Given the description of an element on the screen output the (x, y) to click on. 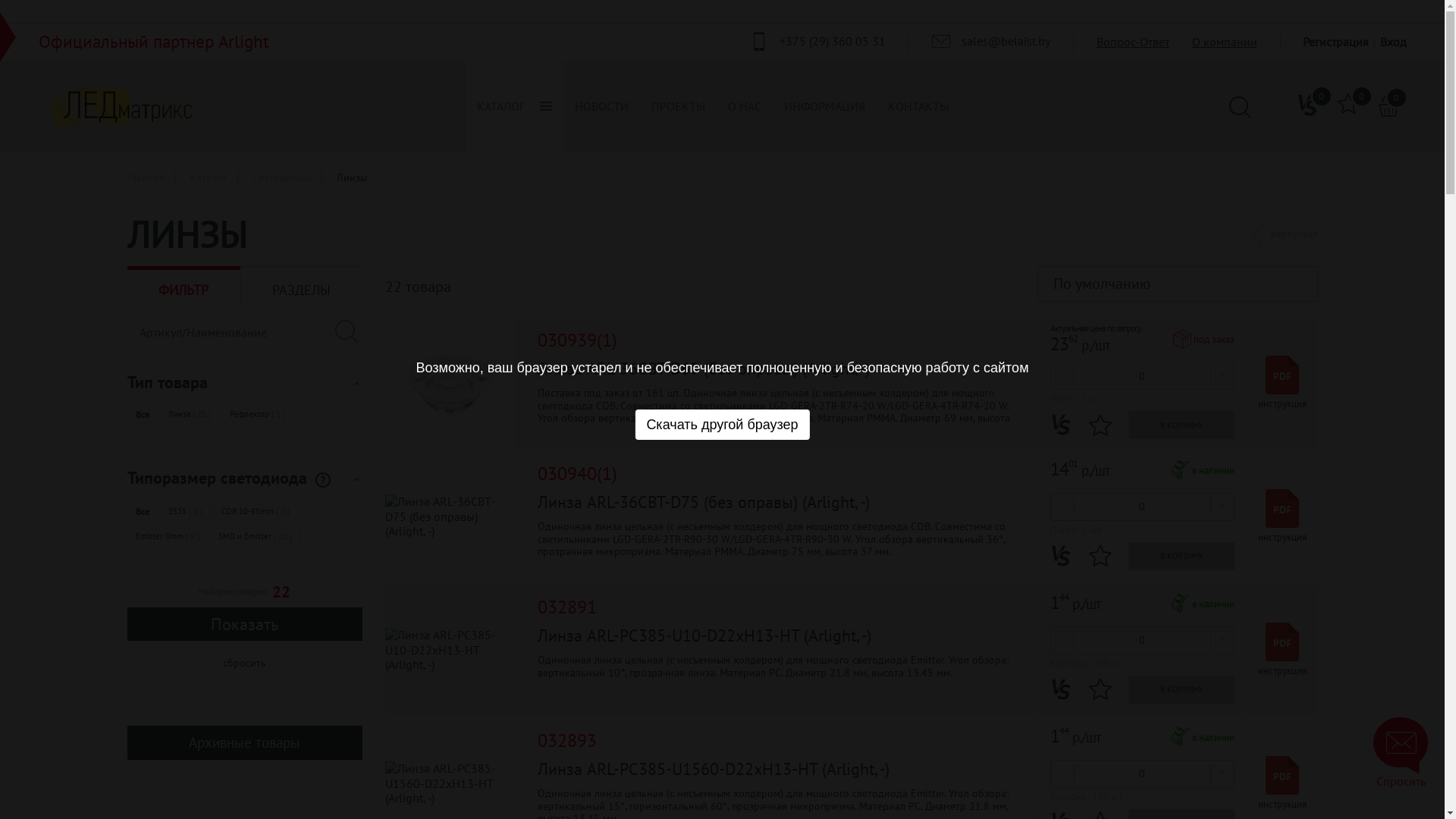
+ Element type: text (1221, 374)
0 Element type: text (1347, 106)
- Element type: text (1062, 773)
032893 Element type: text (566, 741)
- Element type: text (1062, 506)
030939(1) Element type: text (576, 340)
0 Element type: text (1388, 105)
+375 (29) 360 05 31 Element type: text (817, 41)
032891 Element type: text (566, 607)
sales@belaist.by Element type: text (990, 41)
030940(1) Element type: text (576, 474)
+ Element type: text (1221, 773)
- Element type: text (1062, 639)
Y Element type: text (4, 4)
0 Element type: text (1307, 106)
+ Element type: text (1221, 506)
- Element type: text (1062, 374)
+ Element type: text (1221, 639)
